Given the description of an element on the screen output the (x, y) to click on. 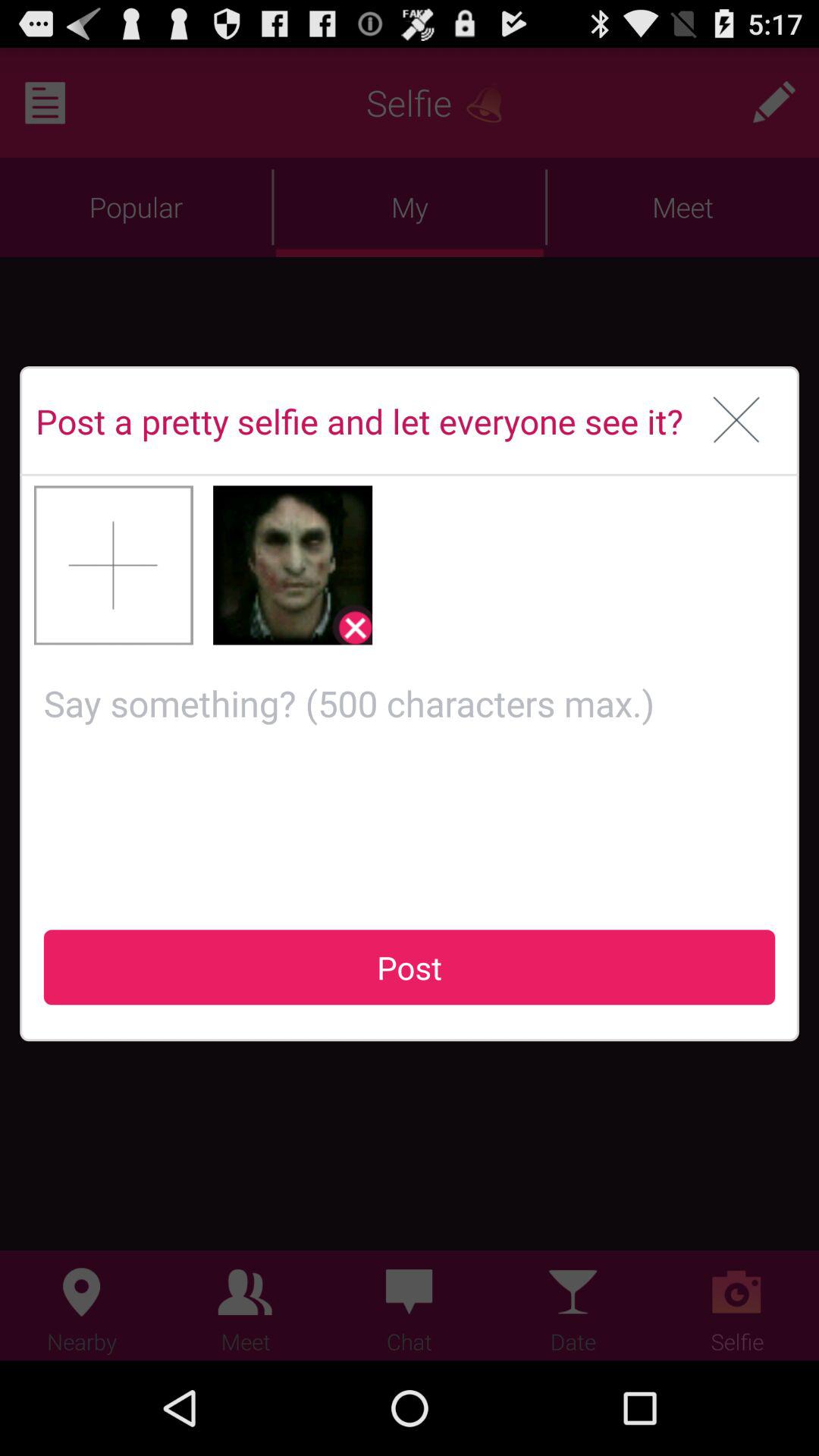
comment box (409, 774)
